Given the description of an element on the screen output the (x, y) to click on. 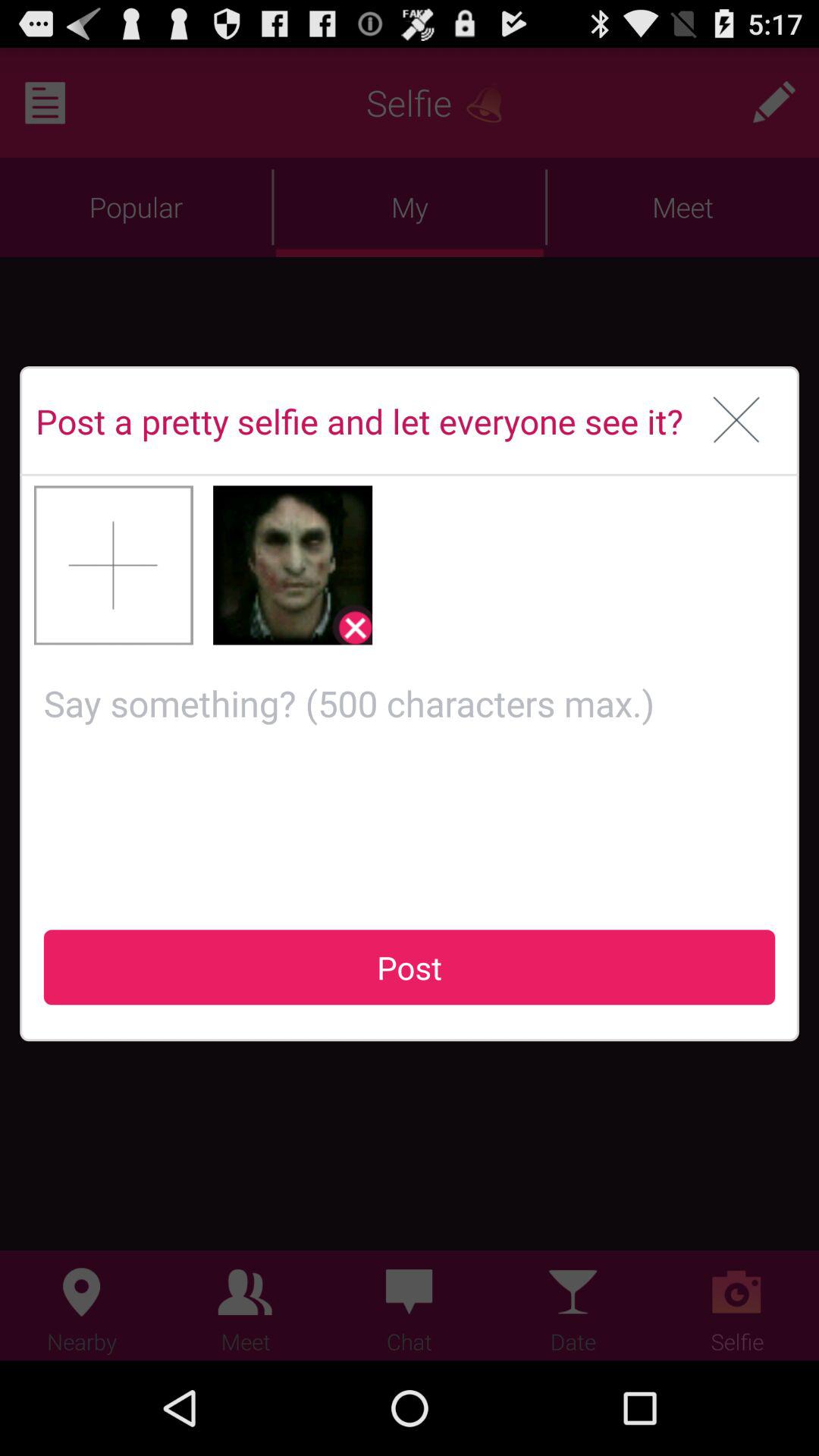
comment box (409, 774)
